Given the description of an element on the screen output the (x, y) to click on. 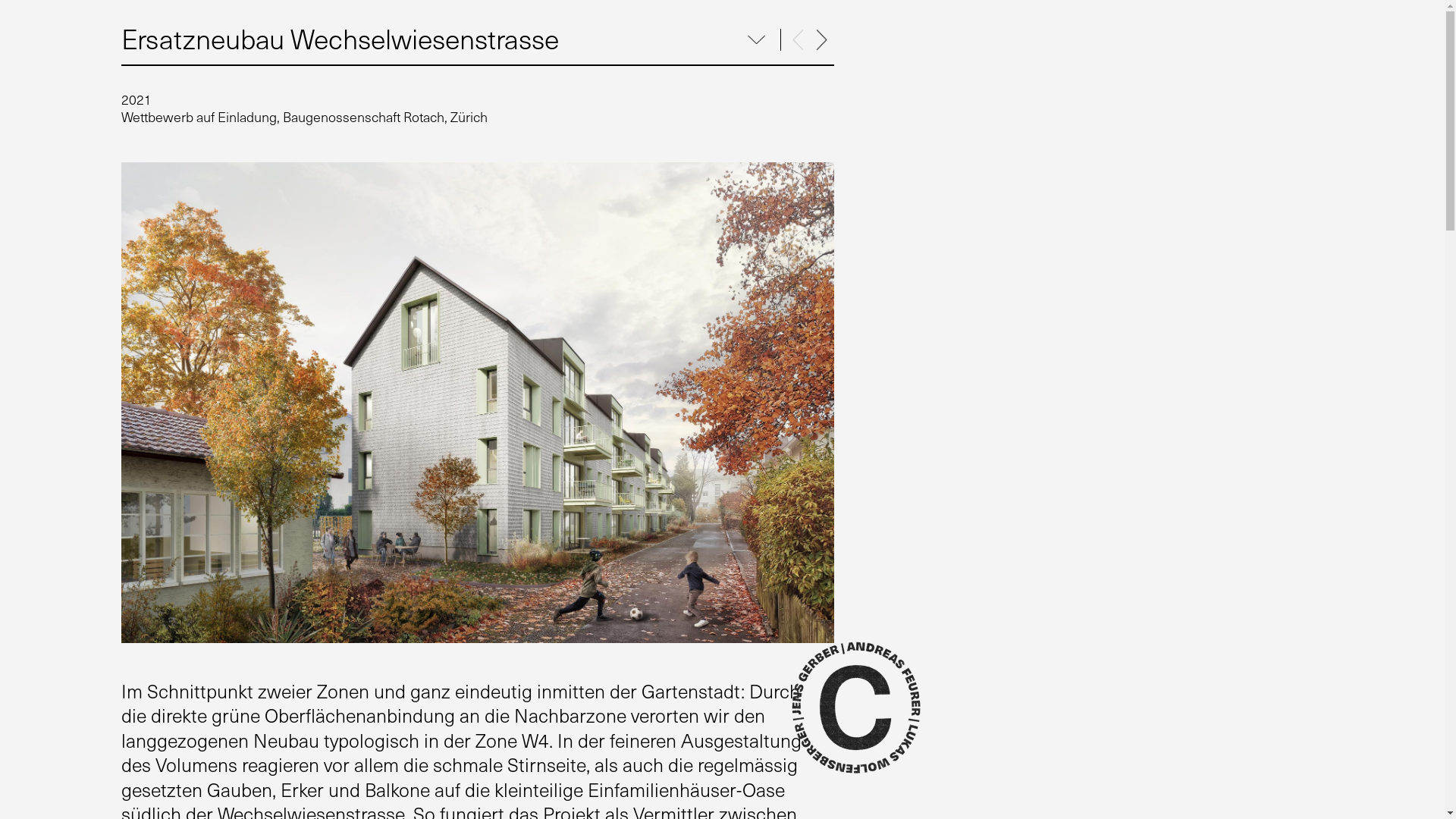
Ersatzneubau Wechselwiesenstrasse Element type: text (339, 37)
